Given the description of an element on the screen output the (x, y) to click on. 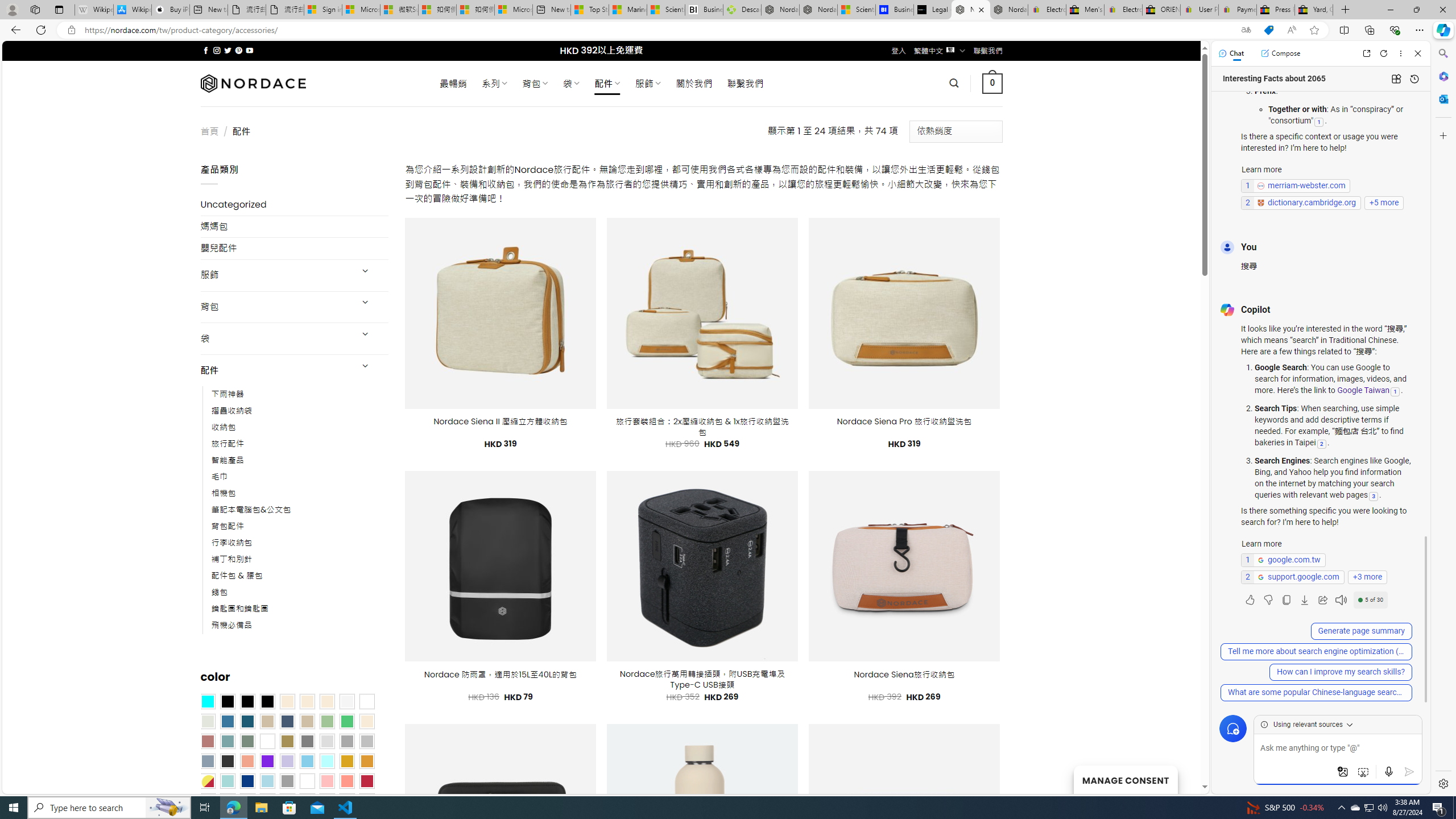
Show translate options (1245, 29)
Marine life - MSN (628, 9)
Side bar (1443, 418)
